Given the description of an element on the screen output the (x, y) to click on. 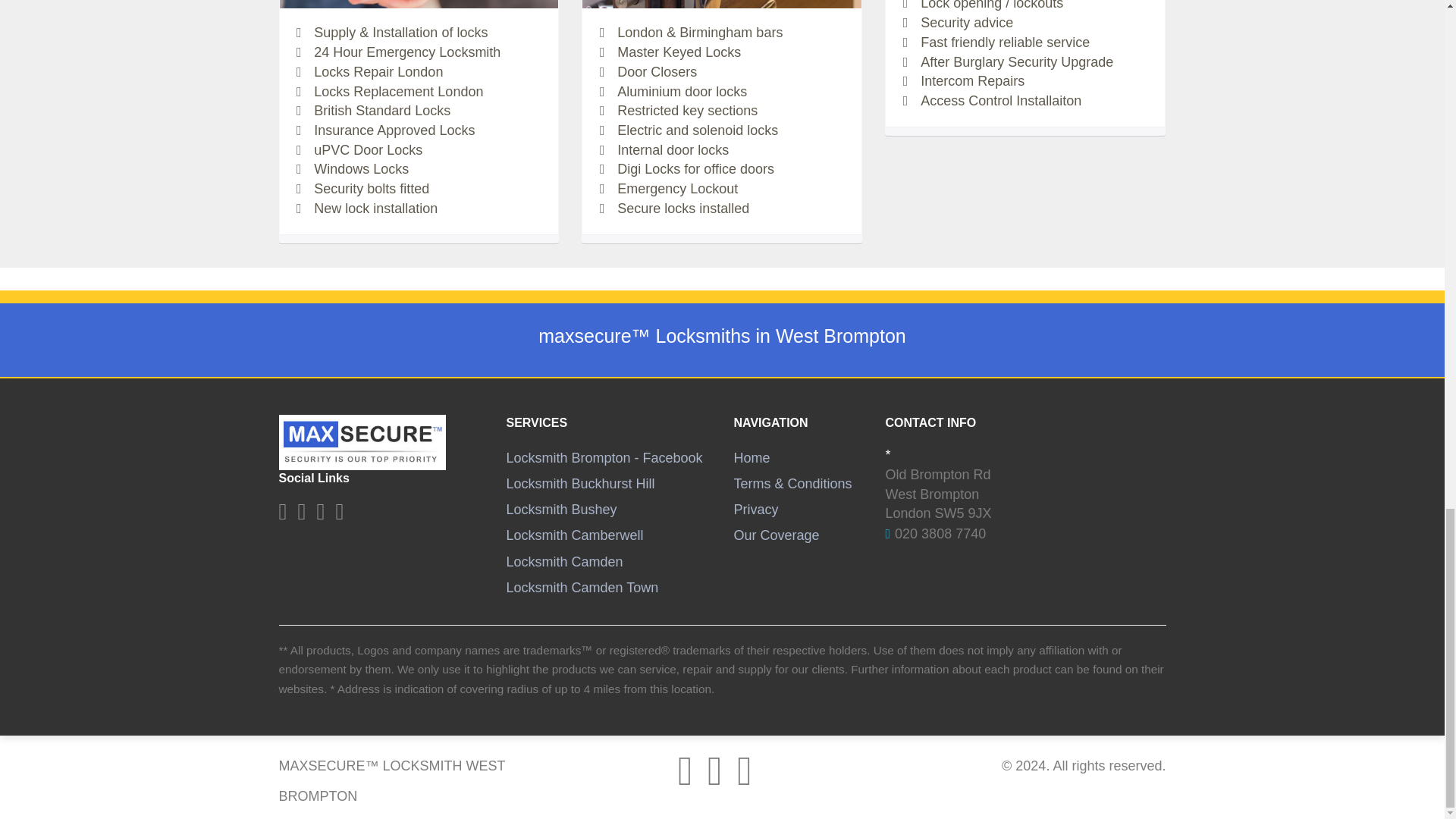
Our Coverage (776, 534)
Home (751, 458)
Privacy (755, 509)
Locksmith Brompton - Facebook (604, 458)
Locksmith Camberwell (574, 534)
Locksmith Camden Town (582, 587)
Locksmith Bushey (561, 509)
Locksmith Buckhurst Hill (580, 483)
Locksmith Camden (564, 561)
